Given the description of an element on the screen output the (x, y) to click on. 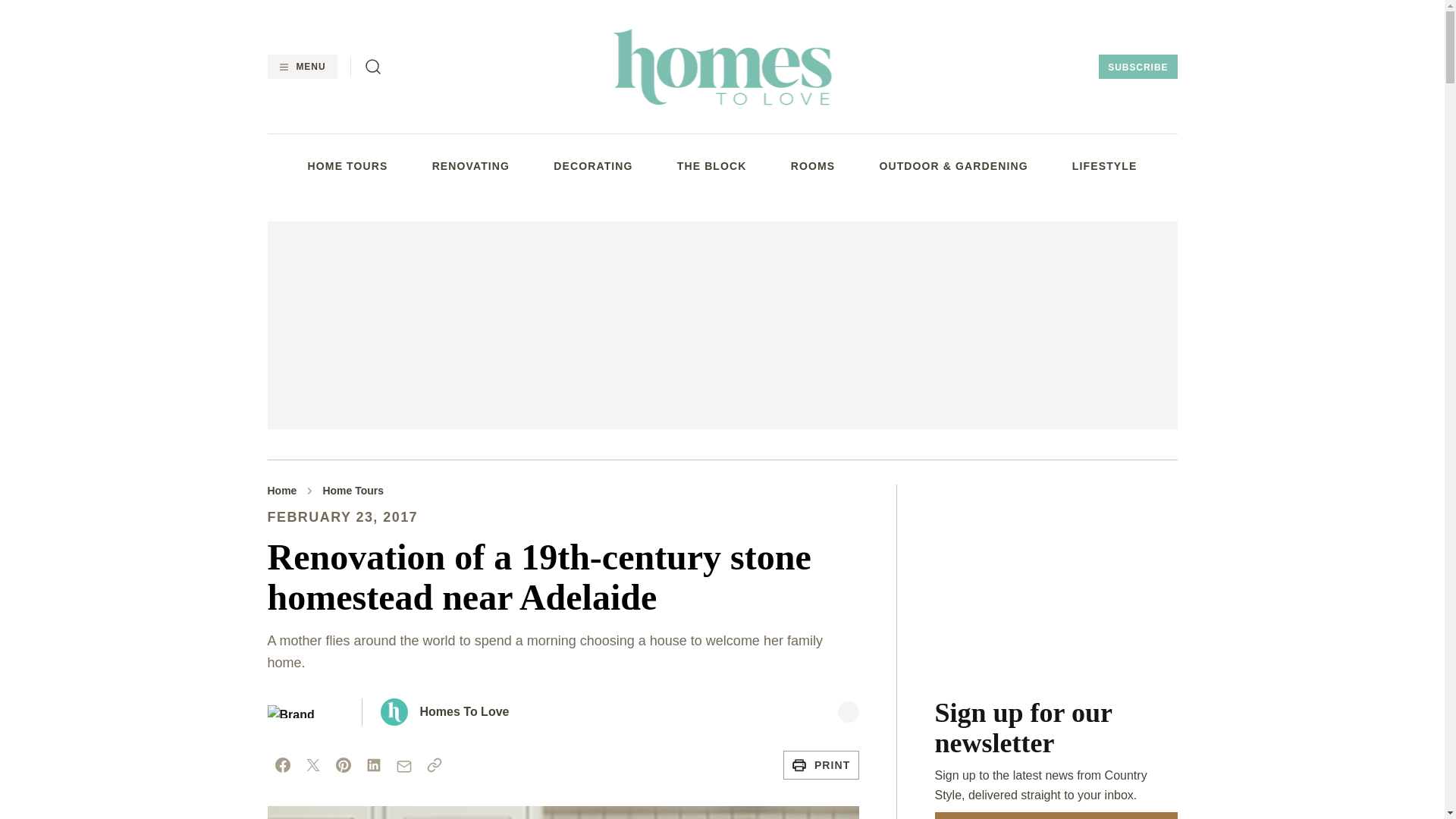
THE BLOCK (711, 165)
HOME TOURS (347, 165)
DECORATING (592, 165)
MENU (301, 66)
RENOVATING (470, 165)
LIFESTYLE (1104, 165)
SUBSCRIBE (1137, 66)
ROOMS (812, 165)
